Given the description of an element on the screen output the (x, y) to click on. 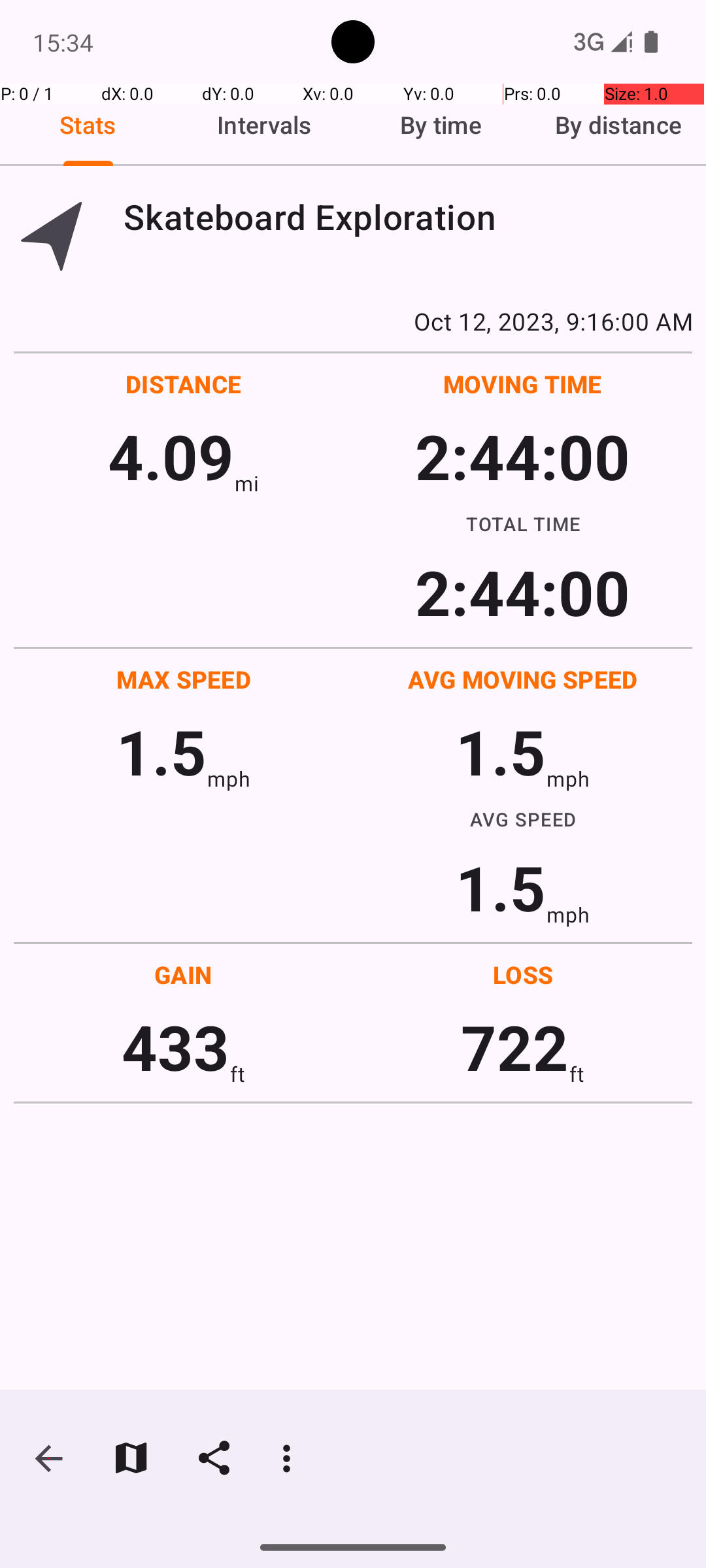
Skateboard Exploration Element type: android.widget.TextView (407, 216)
Oct 12, 2023, 9:16:00 AM Element type: android.widget.TextView (352, 320)
4.09 Element type: android.widget.TextView (170, 455)
2:44:00 Element type: android.widget.TextView (522, 455)
1.5 Element type: android.widget.TextView (161, 750)
433 Element type: android.widget.TextView (175, 1045)
722 Element type: android.widget.TextView (514, 1045)
